Given the description of an element on the screen output the (x, y) to click on. 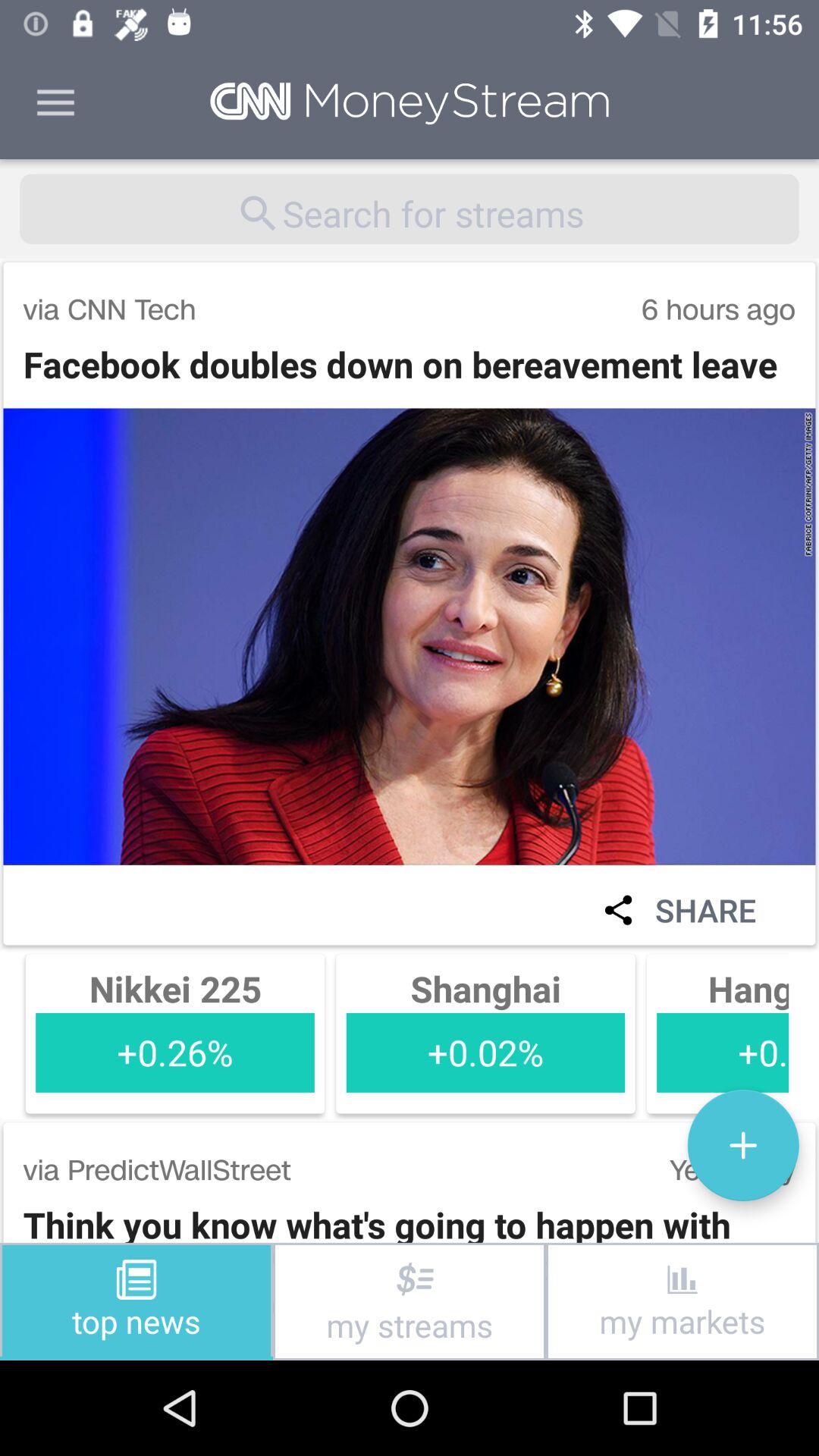
search (409, 208)
